Given the description of an element on the screen output the (x, y) to click on. 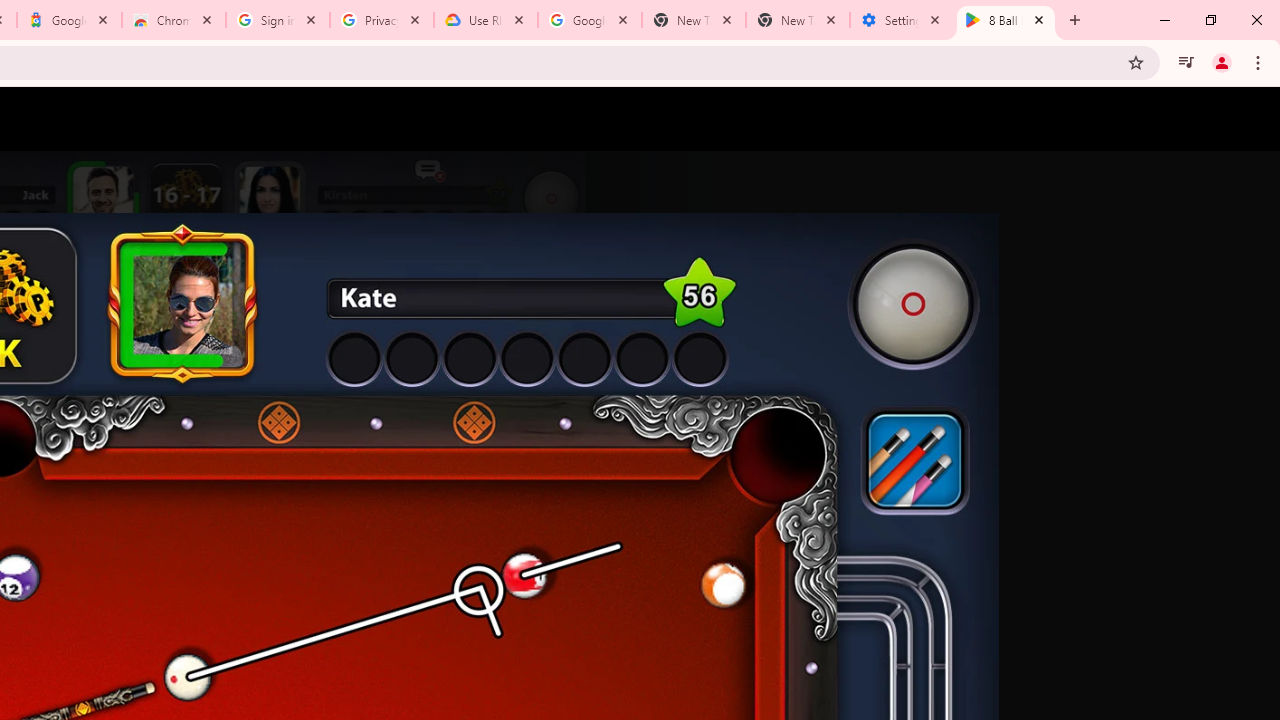
Settings - System (901, 20)
8 Ball Pool - Apps on Google Play (1005, 20)
Sign in - Google Accounts (278, 20)
New Tab (797, 20)
Google (68, 20)
Open account menu (1245, 119)
